Given the description of an element on the screen output the (x, y) to click on. 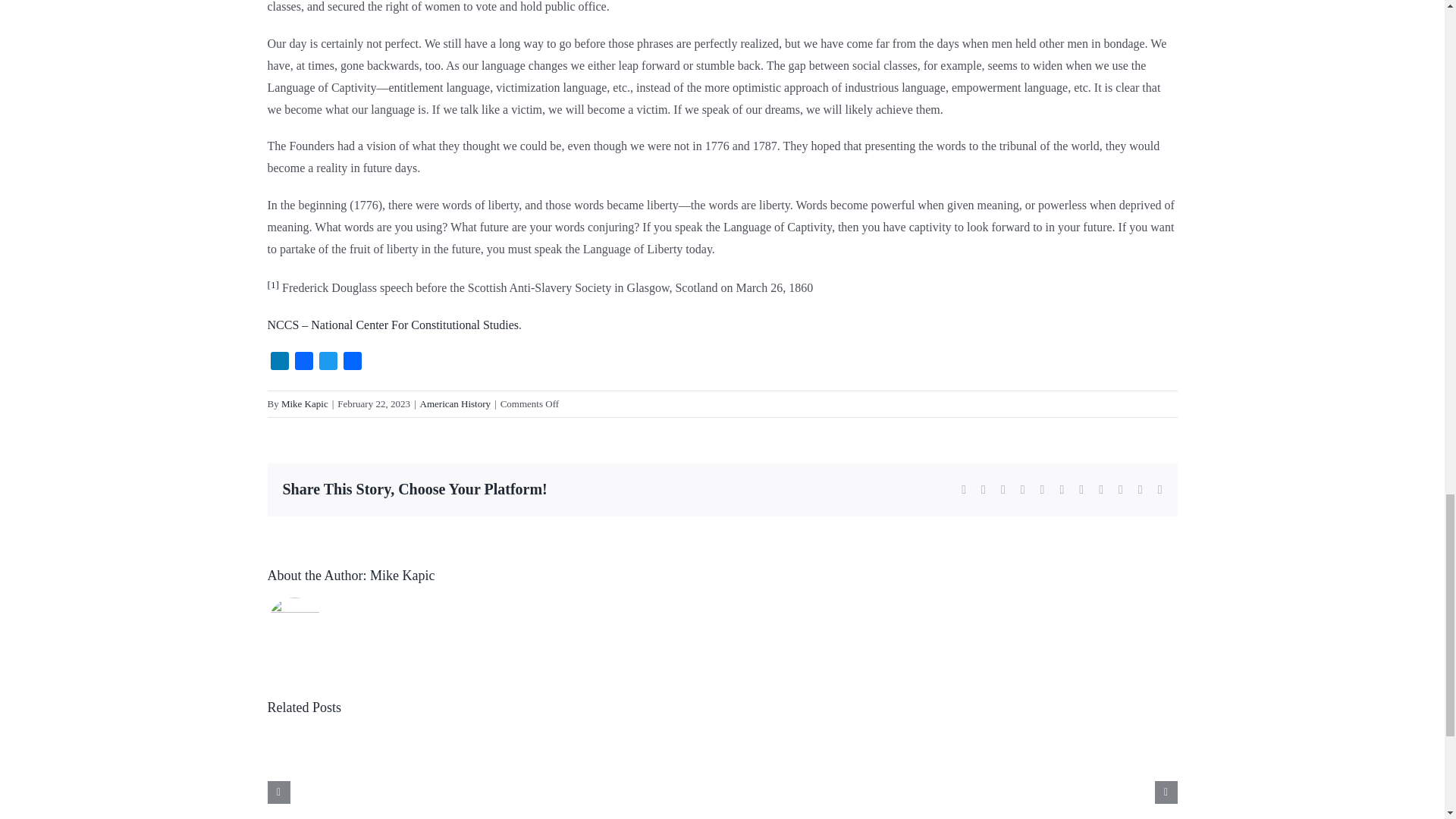
Twitter (327, 363)
Share (351, 363)
Mike Kapic (305, 403)
Facebook (303, 363)
LinkedIn (278, 363)
Twitter (327, 363)
Posts by Mike Kapic (305, 403)
Mike Kapic (401, 575)
American History (456, 403)
Facebook (303, 363)
